Given the description of an element on the screen output the (x, y) to click on. 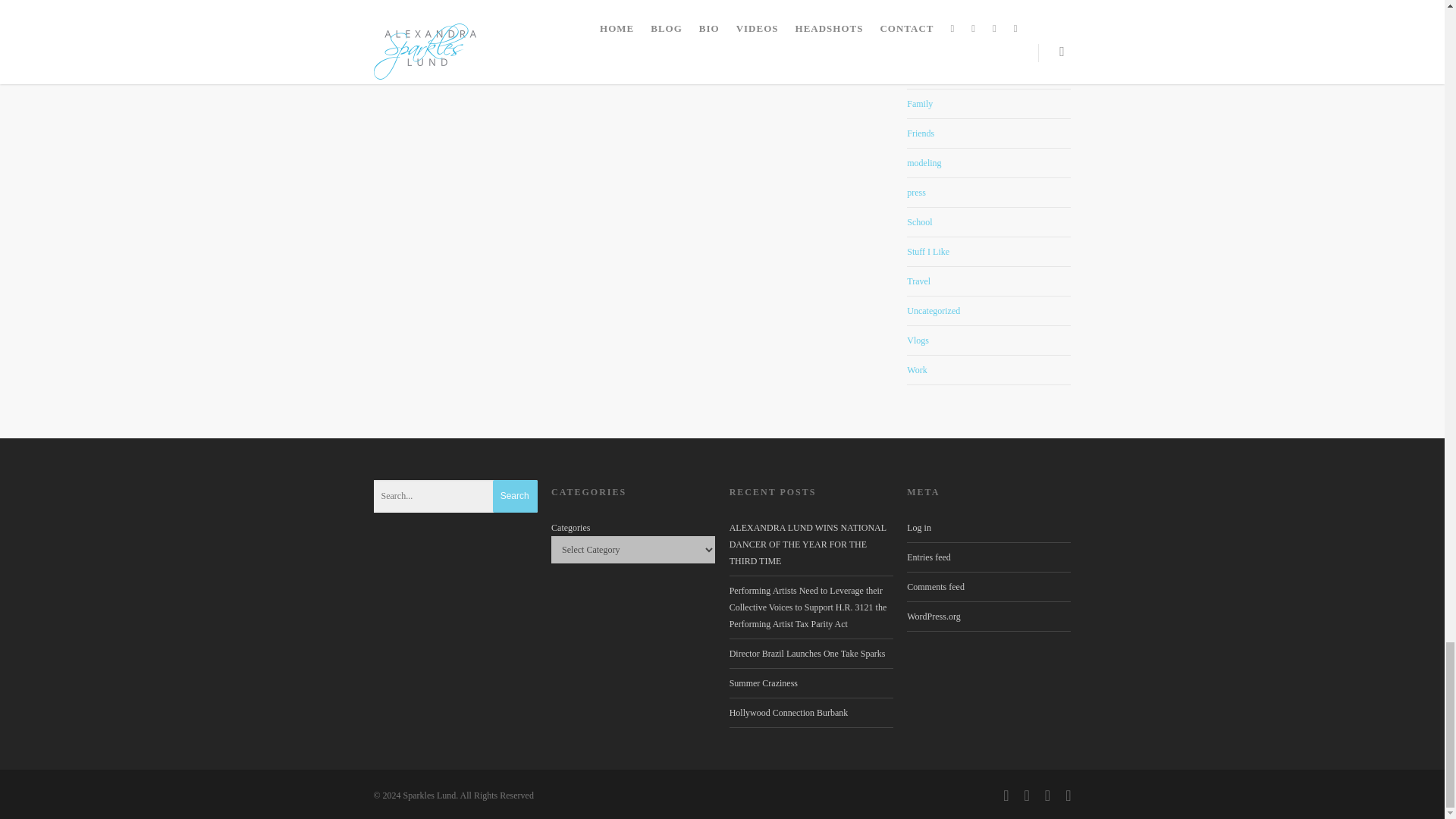
Search (515, 495)
Search (515, 495)
Search for: (454, 495)
